Given the description of an element on the screen output the (x, y) to click on. 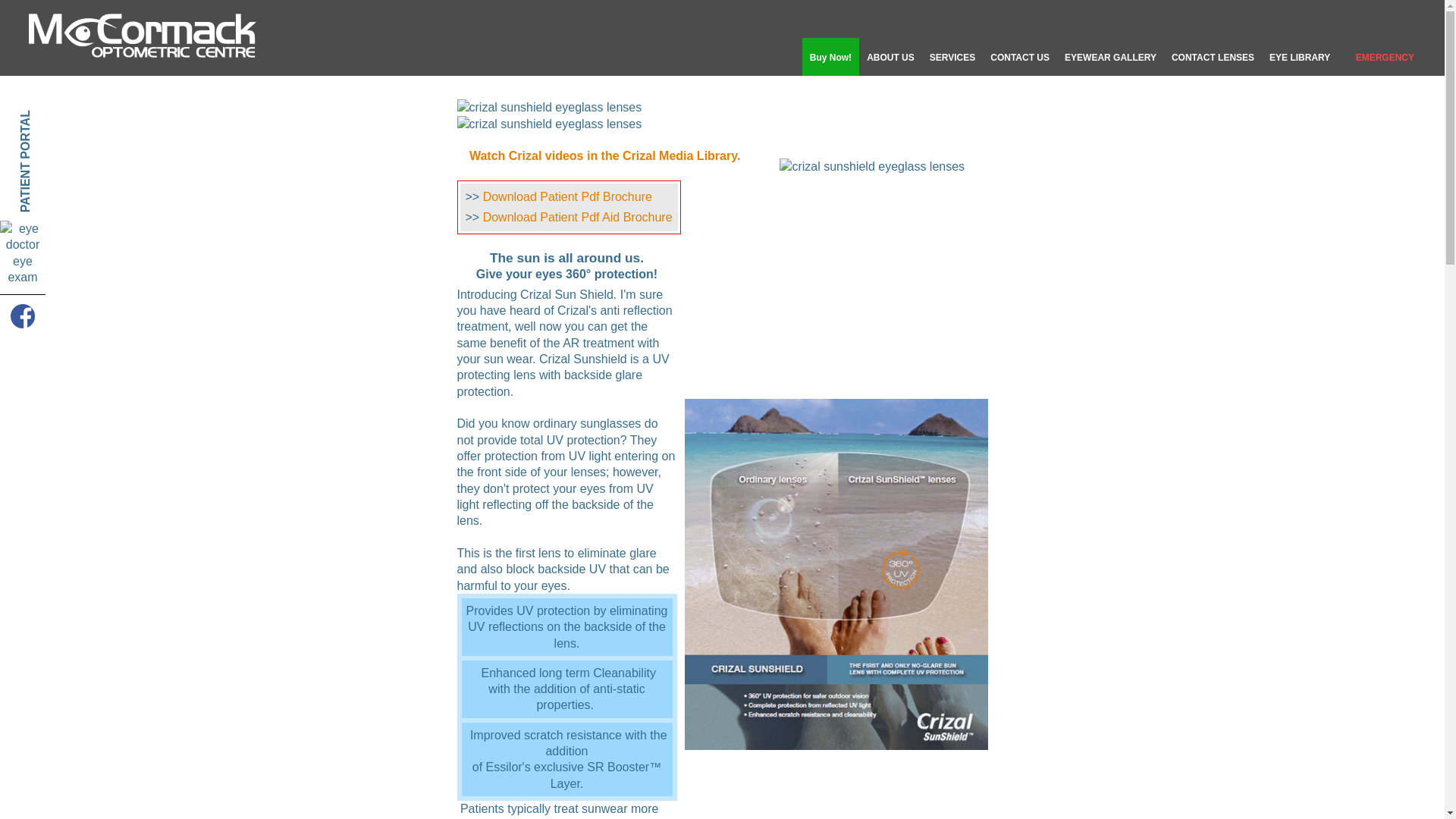
ABOUT US (890, 56)
Buy Now! (830, 56)
SERVICES (951, 56)
CONTACT US (1019, 56)
EYEWEAR GALLERY (1110, 56)
